Given the description of an element on the screen output the (x, y) to click on. 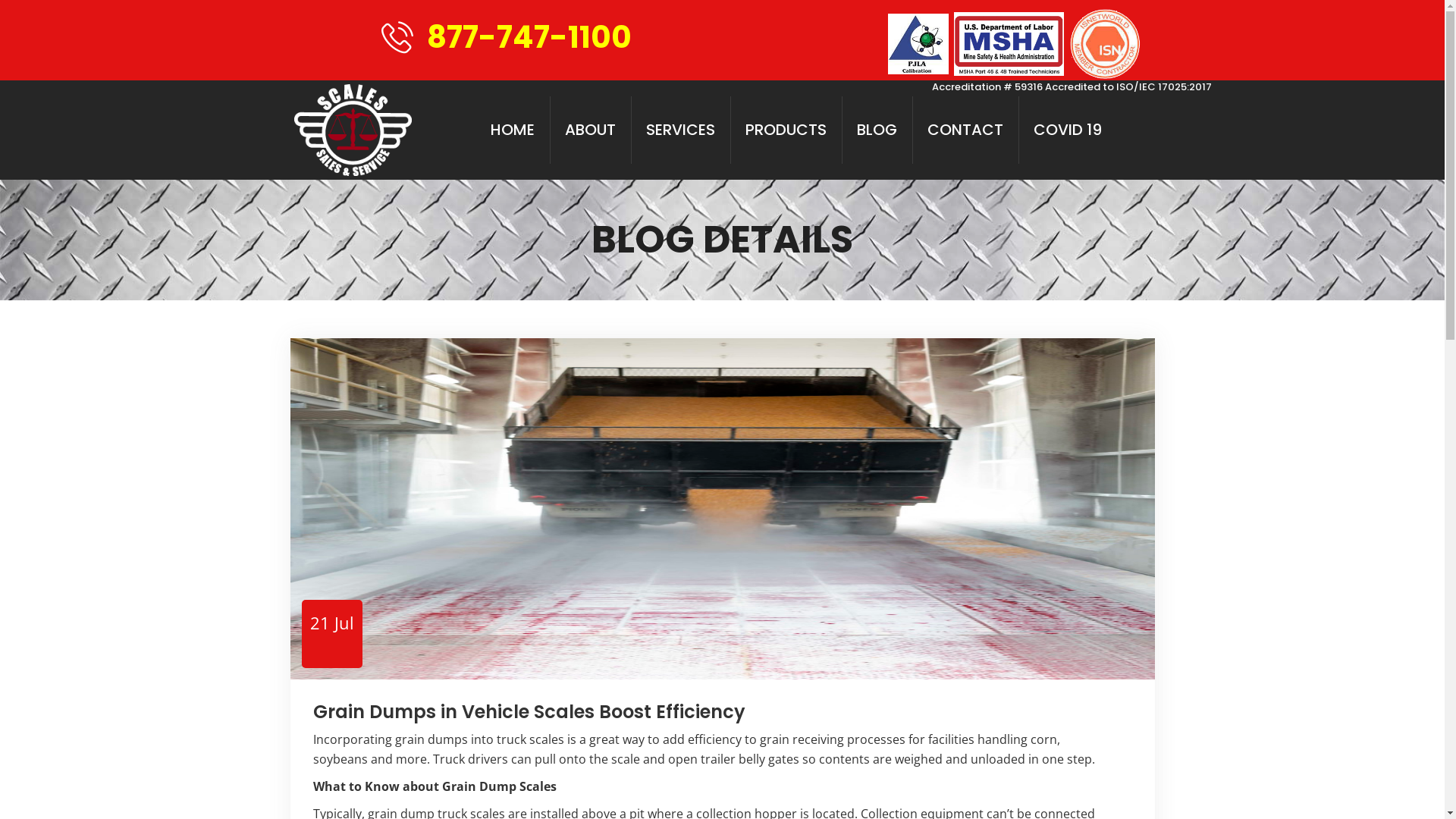
BLOG Element type: text (876, 129)
PRODUCTS Element type: text (785, 129)
877-747-1100 Element type: text (528, 36)
Accreditation # 59316 Accredited to ISO/IEC 17025:2017 Element type: text (1071, 86)
COVID 19 Element type: text (1067, 129)
HOME Element type: text (512, 129)
ABOUT Element type: text (589, 129)
SERVICES Element type: text (680, 129)
CONTACT Element type: text (965, 129)
